Given the description of an element on the screen output the (x, y) to click on. 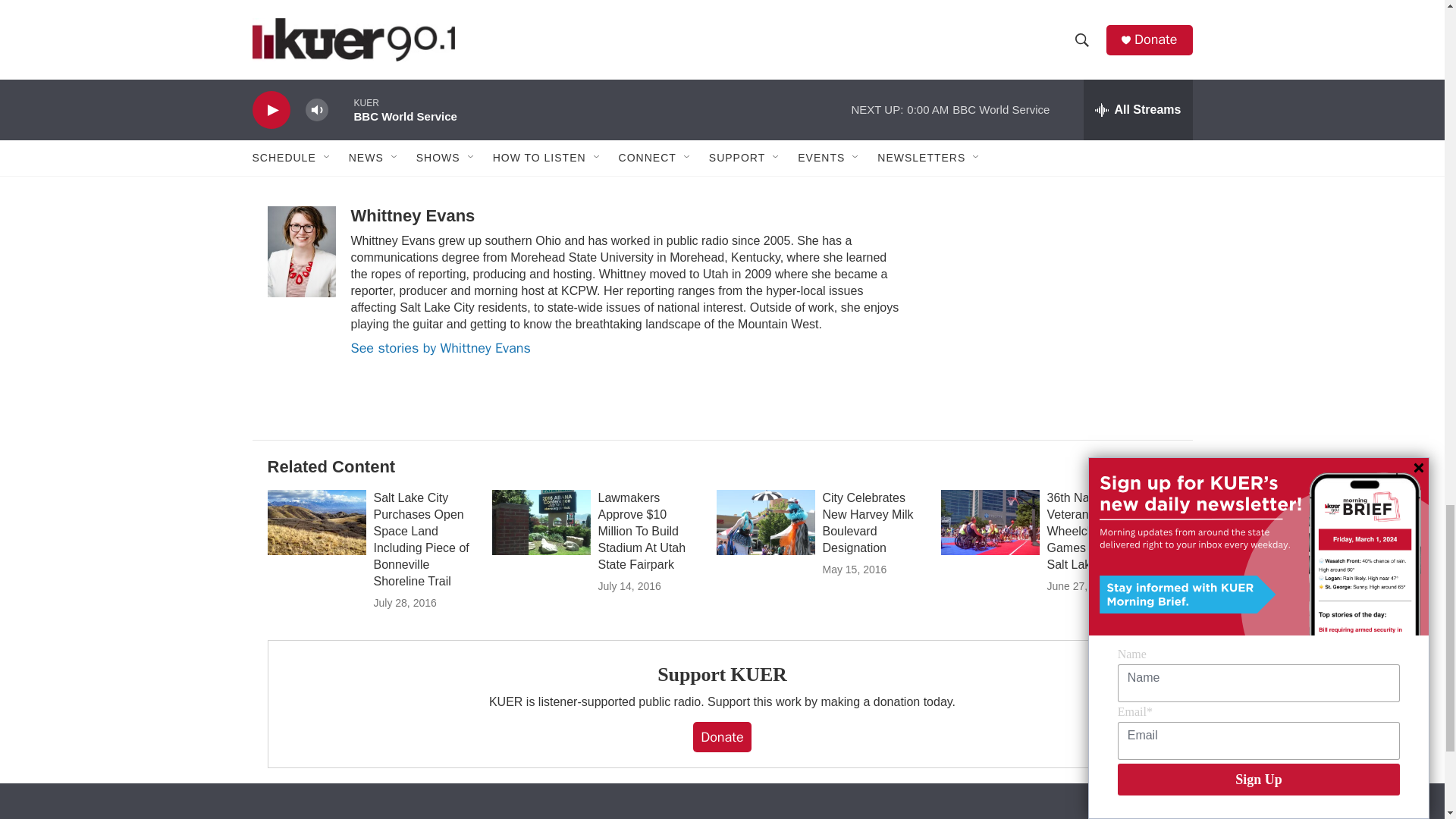
3rd party ad content (1062, 22)
